Given the description of an element on the screen output the (x, y) to click on. 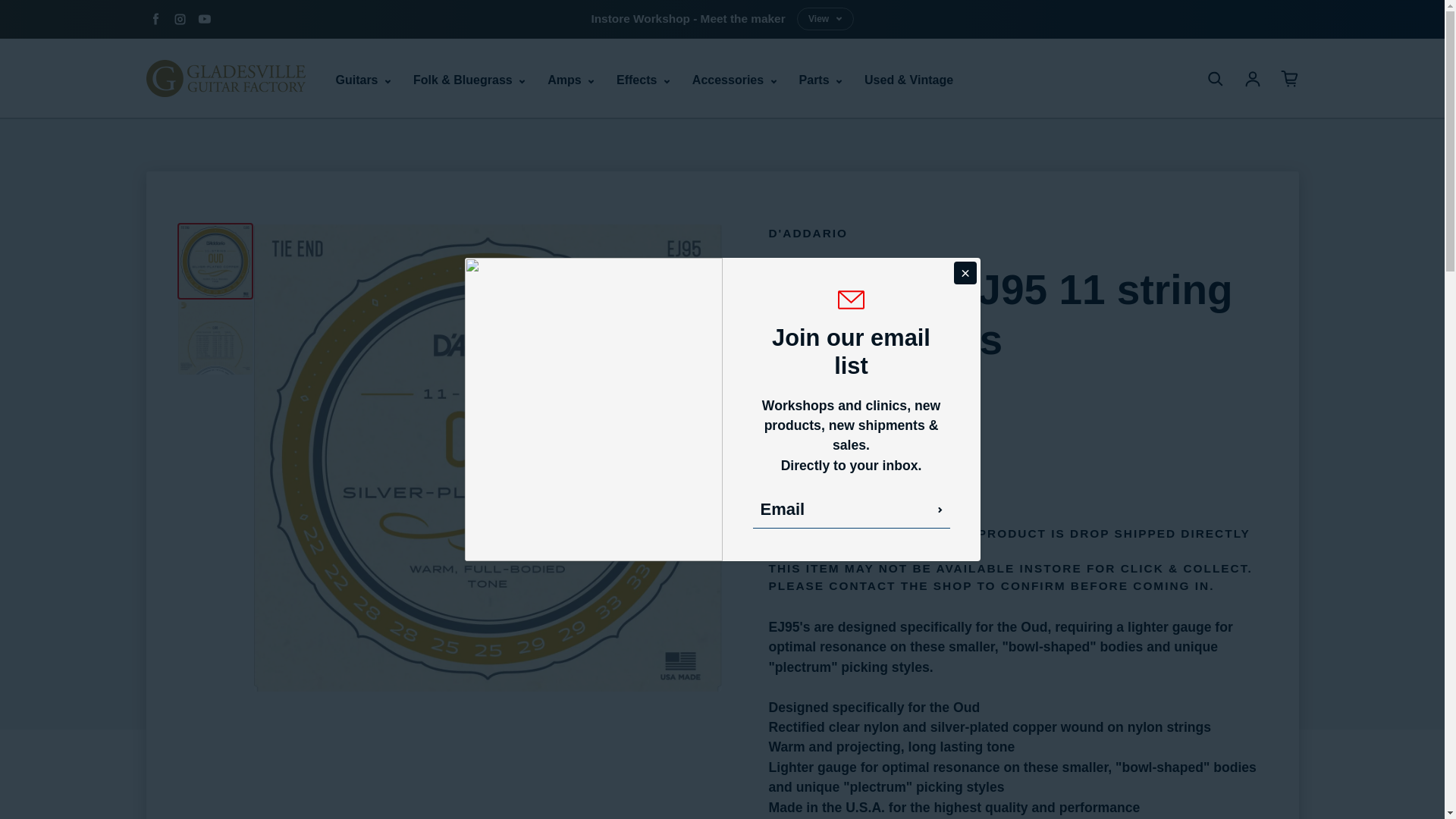
Accessories (734, 80)
Guitars (362, 80)
Instagram (179, 18)
Effects (642, 80)
YouTube (203, 18)
Parts (820, 80)
Facebook (154, 18)
Log in (1252, 78)
View (824, 18)
